Given the description of an element on the screen output the (x, y) to click on. 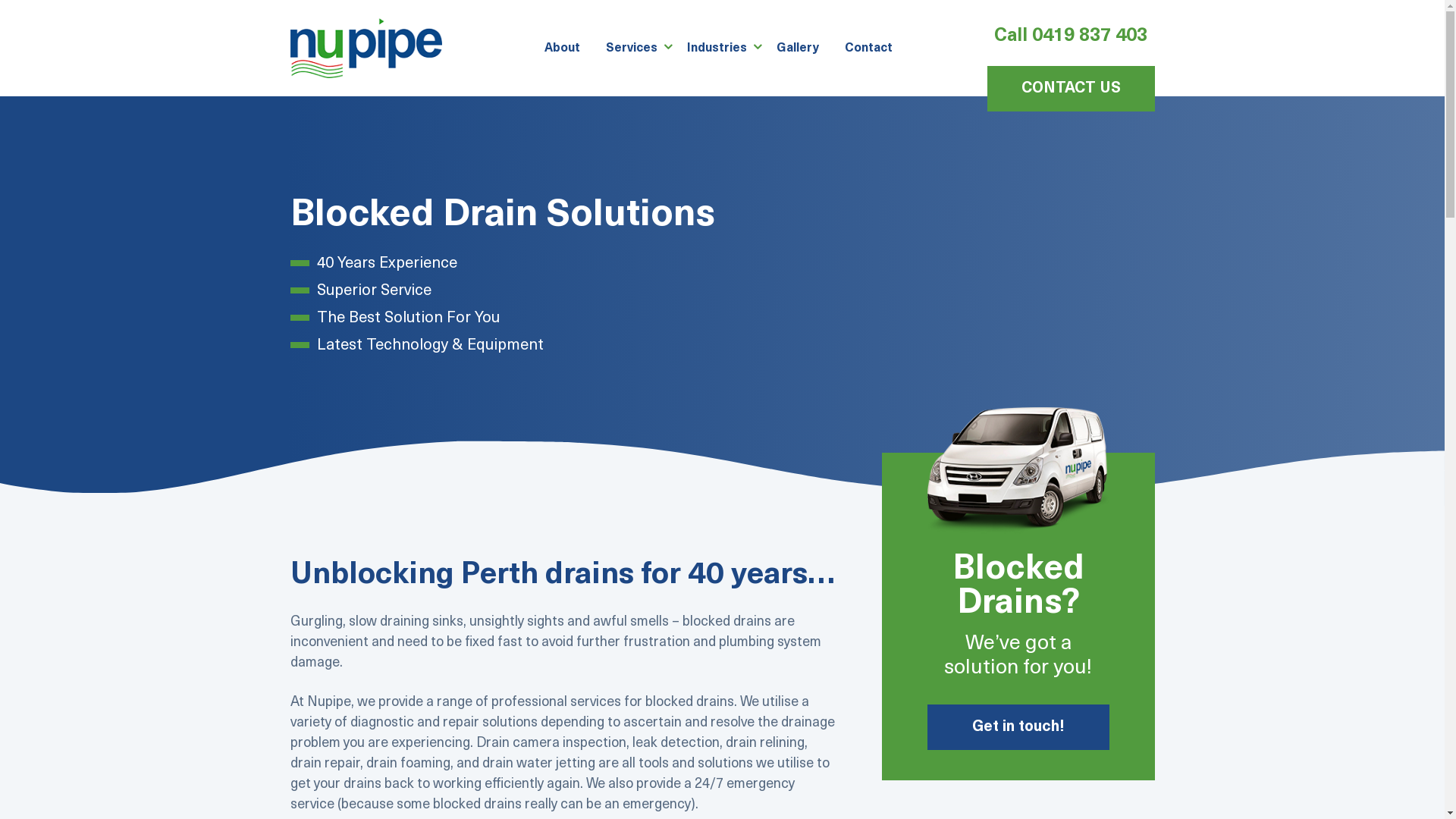
Gallery Element type: text (796, 47)
Get in touch! Element type: text (1017, 726)
CONTACT US Element type: text (1070, 88)
About Element type: text (561, 47)
Contact Element type: text (867, 47)
Industries Element type: text (715, 47)
Services Element type: text (631, 47)
Call 0419 837 403 Element type: text (1070, 36)
